Given the description of an element on the screen output the (x, y) to click on. 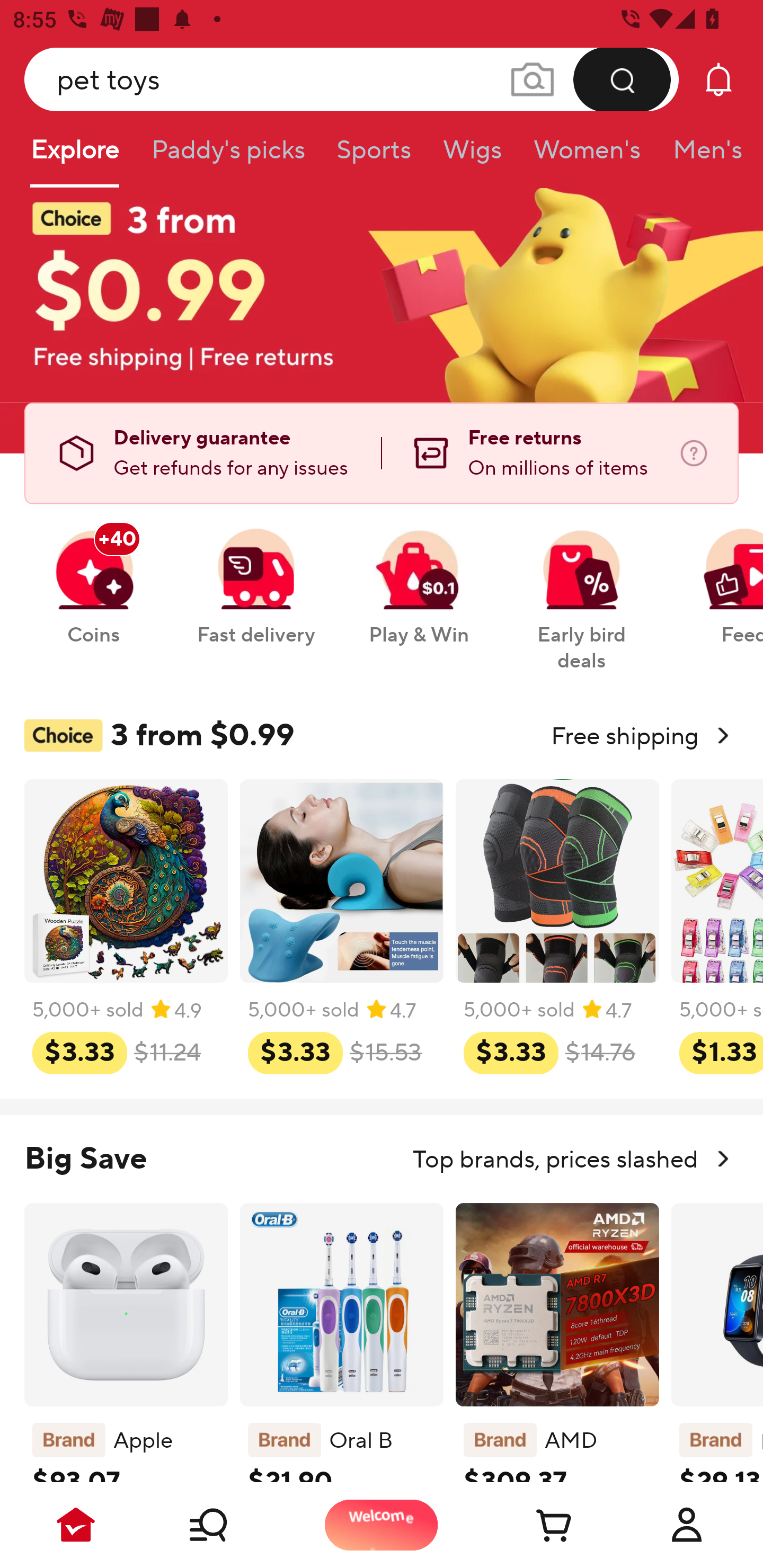
pet toys (351, 79)
Paddy's picks (227, 155)
Sports (373, 155)
Wigs (472, 155)
Women's (586, 155)
Men's (701, 155)
Coinsbutton +40 Coins (93, 576)
Fast deliverybutton Fast delivery (255, 576)
Play & Winbutton Play & Win (418, 576)
Early bird dealsbutton Early bird deals (581, 589)
Feedbutton Feed (719, 576)
Shop (228, 1524)
Cart (533, 1524)
Account (686, 1524)
